Given the description of an element on the screen output the (x, y) to click on. 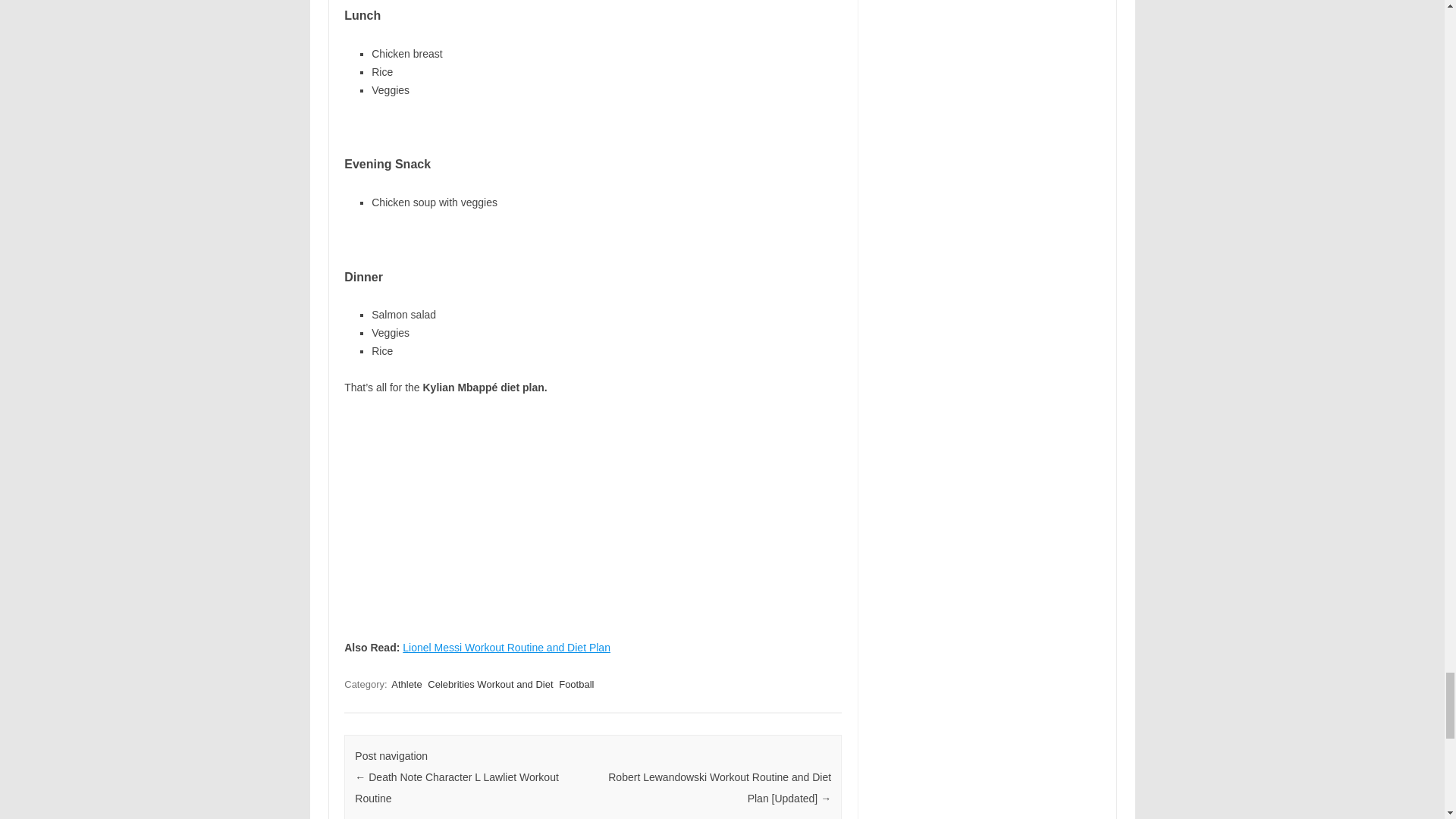
Athlete (406, 684)
Lionel Messi Workout Routine and Diet Plan (506, 647)
Celebrities Workout and Diet (490, 684)
